Given the description of an element on the screen output the (x, y) to click on. 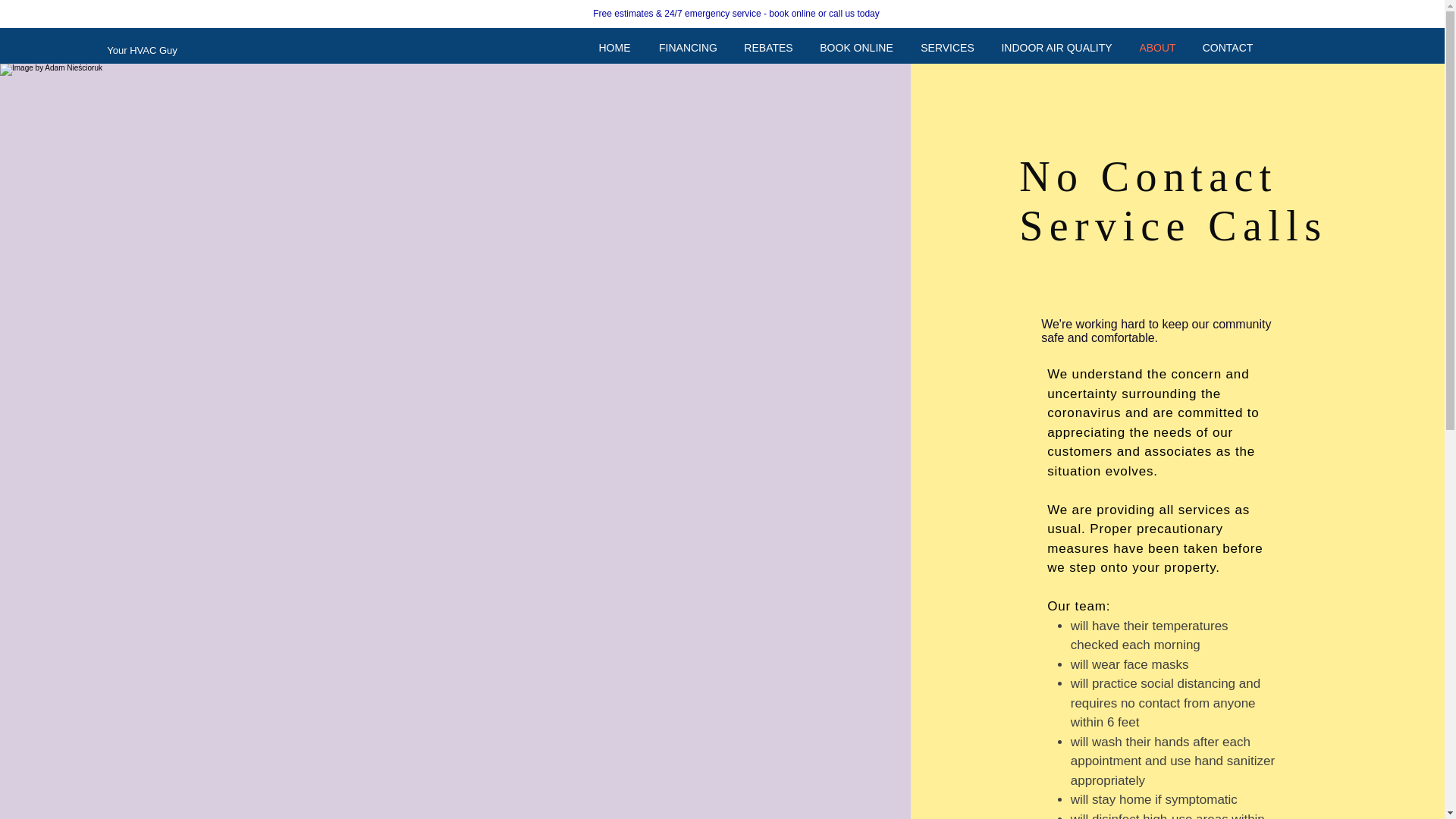
ABOUT (1157, 47)
Your HVAC Guy (142, 50)
SERVICES (947, 47)
HOME (614, 47)
BOOK ONLINE (856, 47)
INDOOR AIR QUALITY (1056, 47)
CONTACT (1227, 47)
FINANCING (687, 47)
REBATES (767, 47)
